Given the description of an element on the screen output the (x, y) to click on. 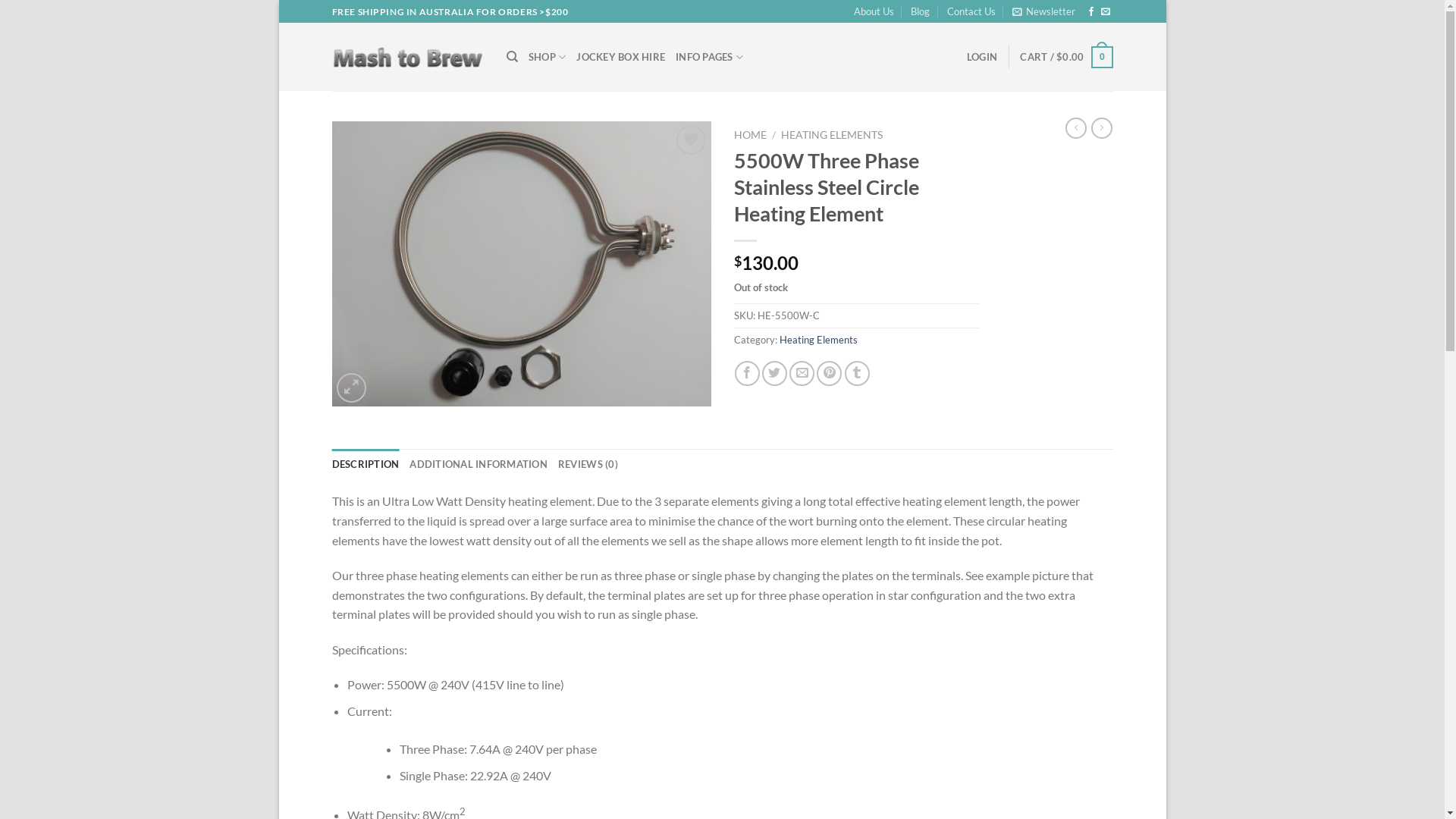
LOGIN Element type: text (981, 56)
INFO PAGES Element type: text (709, 56)
SHOP Element type: text (546, 56)
5500W Three Phase Stainless Steel Circle Heating Element Element type: hover (521, 263)
ADDITIONAL INFORMATION Element type: text (478, 463)
Contact Us Element type: text (971, 11)
About Us Element type: text (873, 11)
Blog Element type: text (919, 11)
DESCRIPTION Element type: text (365, 463)
Heating Elements Element type: text (818, 339)
HEATING ELEMENTS Element type: text (831, 134)
REVIEWS (0) Element type: text (588, 463)
Skip to content Element type: text (279, 0)
HOME Element type: text (750, 134)
JOCKEY BOX HIRE Element type: text (620, 56)
Mash to Brew - Build you own brewery at home Element type: hover (407, 57)
Newsletter Element type: text (1043, 11)
CART / $0.00
0 Element type: text (1065, 57)
